Given the description of an element on the screen output the (x, y) to click on. 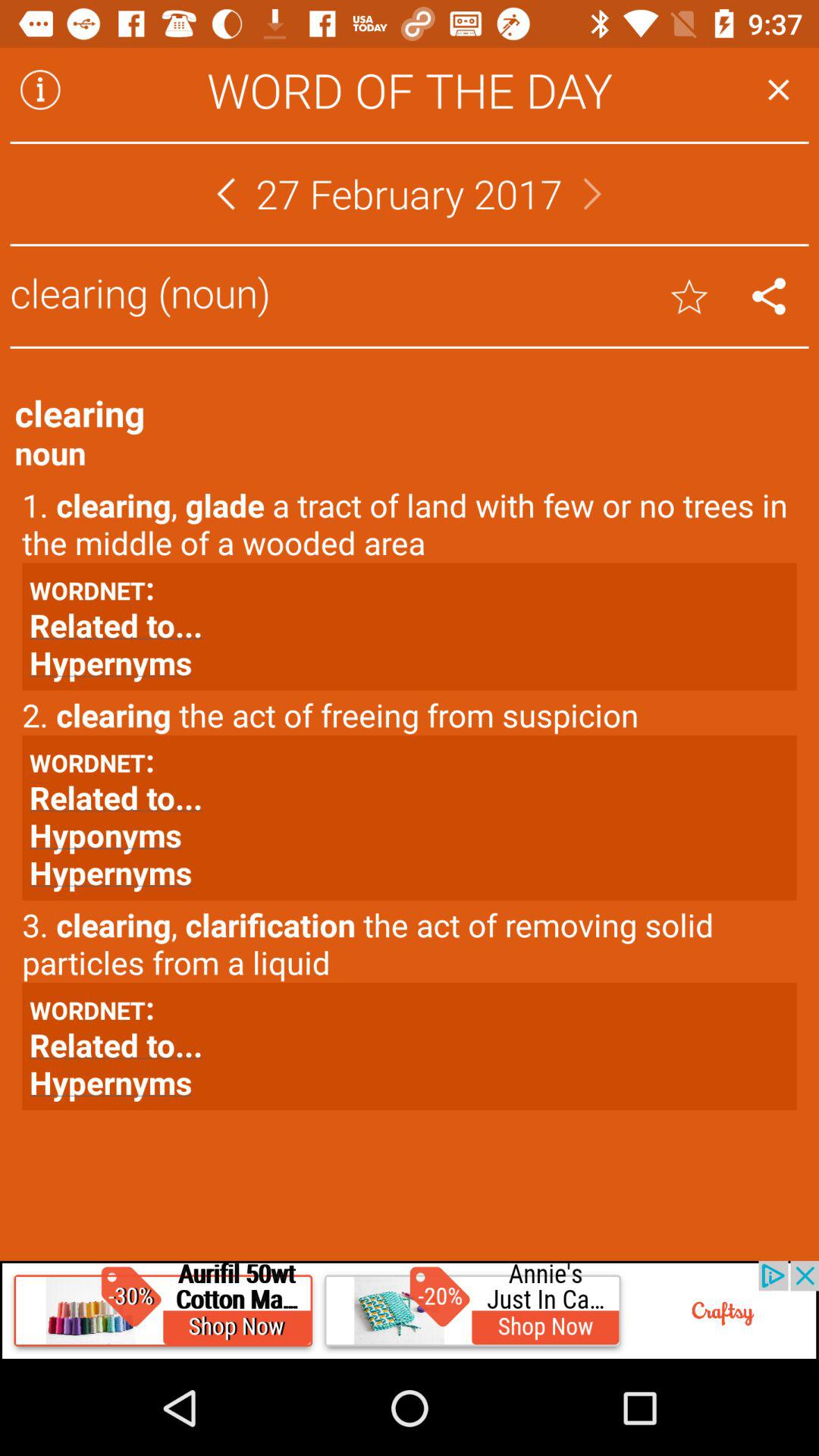
close button (778, 89)
